Given the description of an element on the screen output the (x, y) to click on. 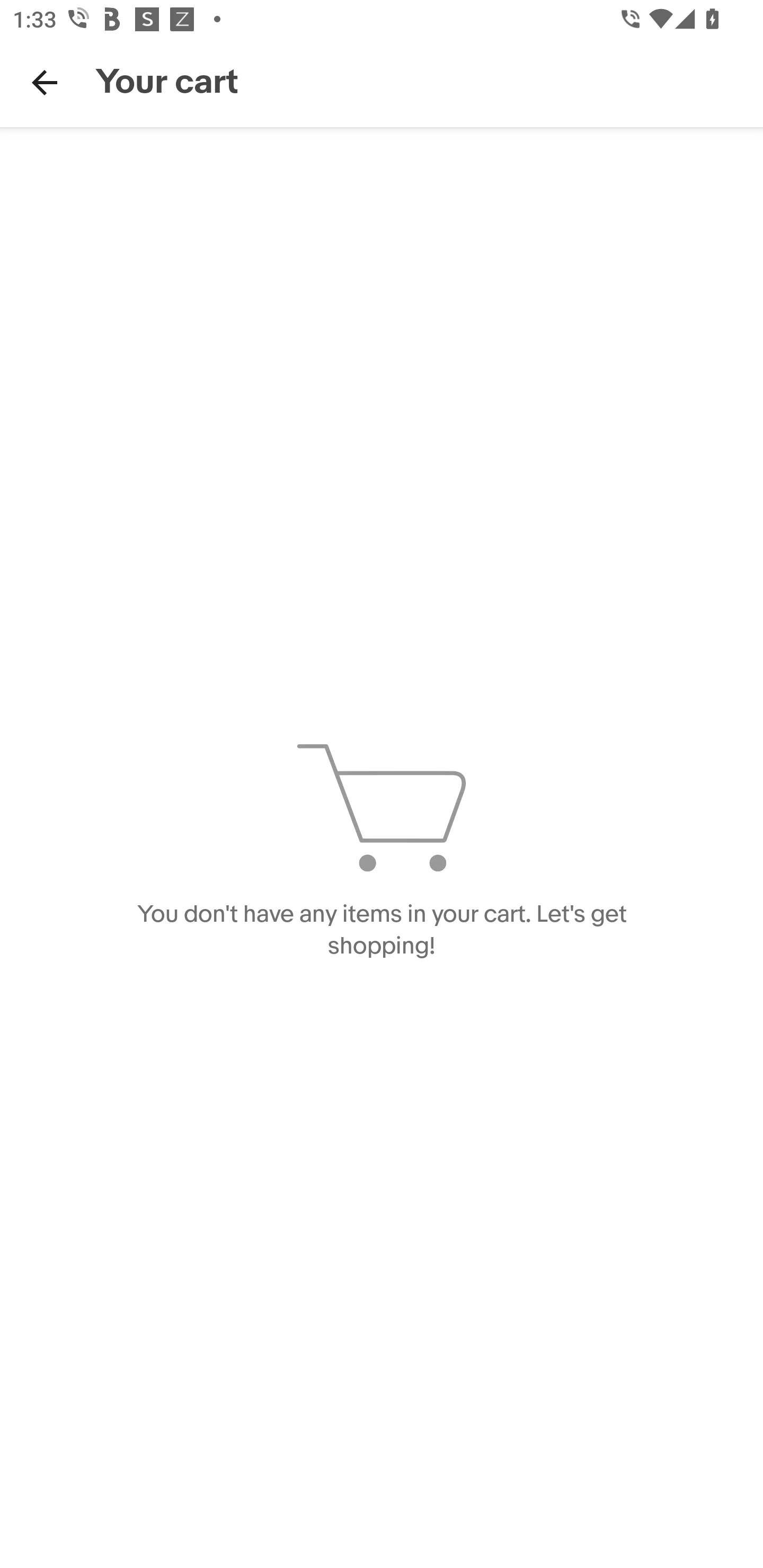
Navigate up (44, 82)
